Given the description of an element on the screen output the (x, y) to click on. 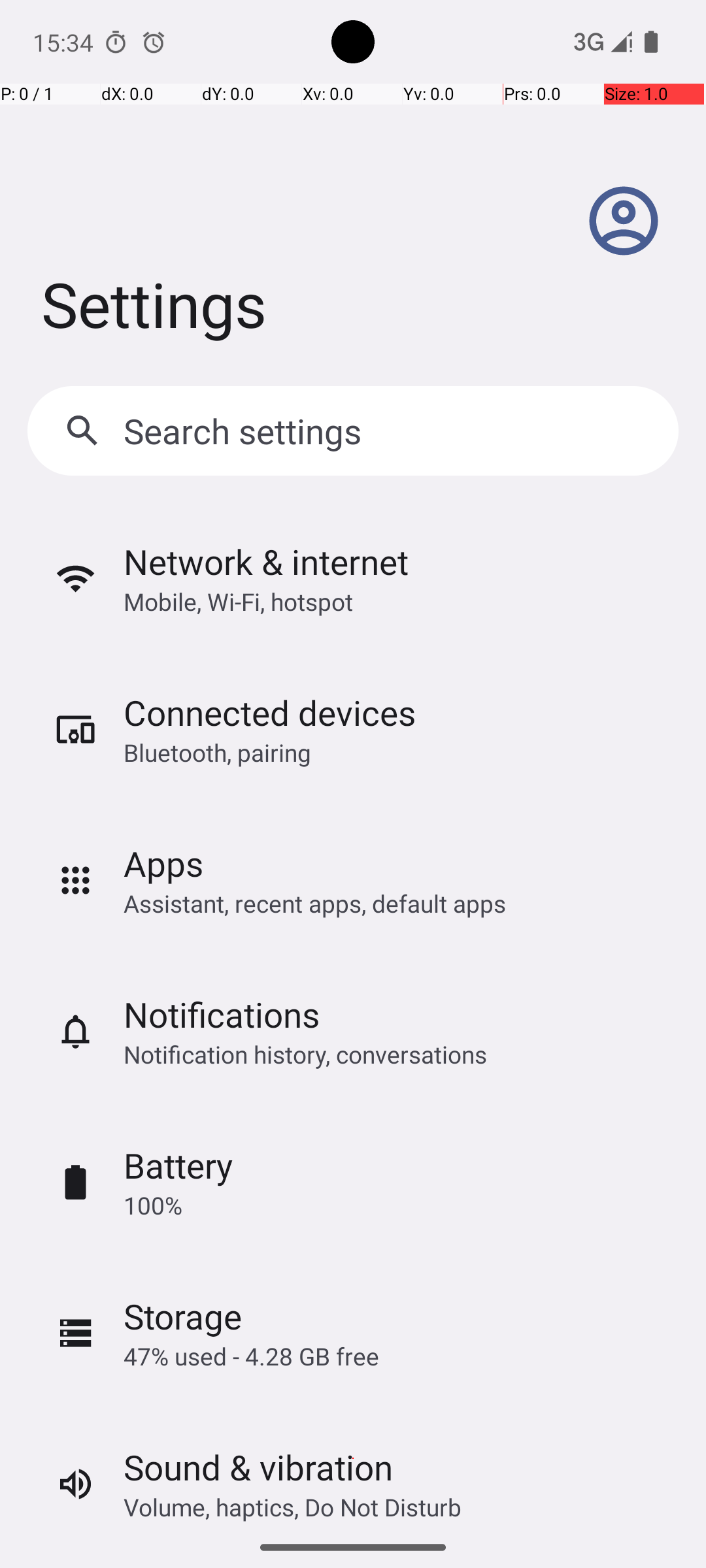
47% used - 4.28 GB free Element type: android.widget.TextView (251, 1355)
